Given the description of an element on the screen output the (x, y) to click on. 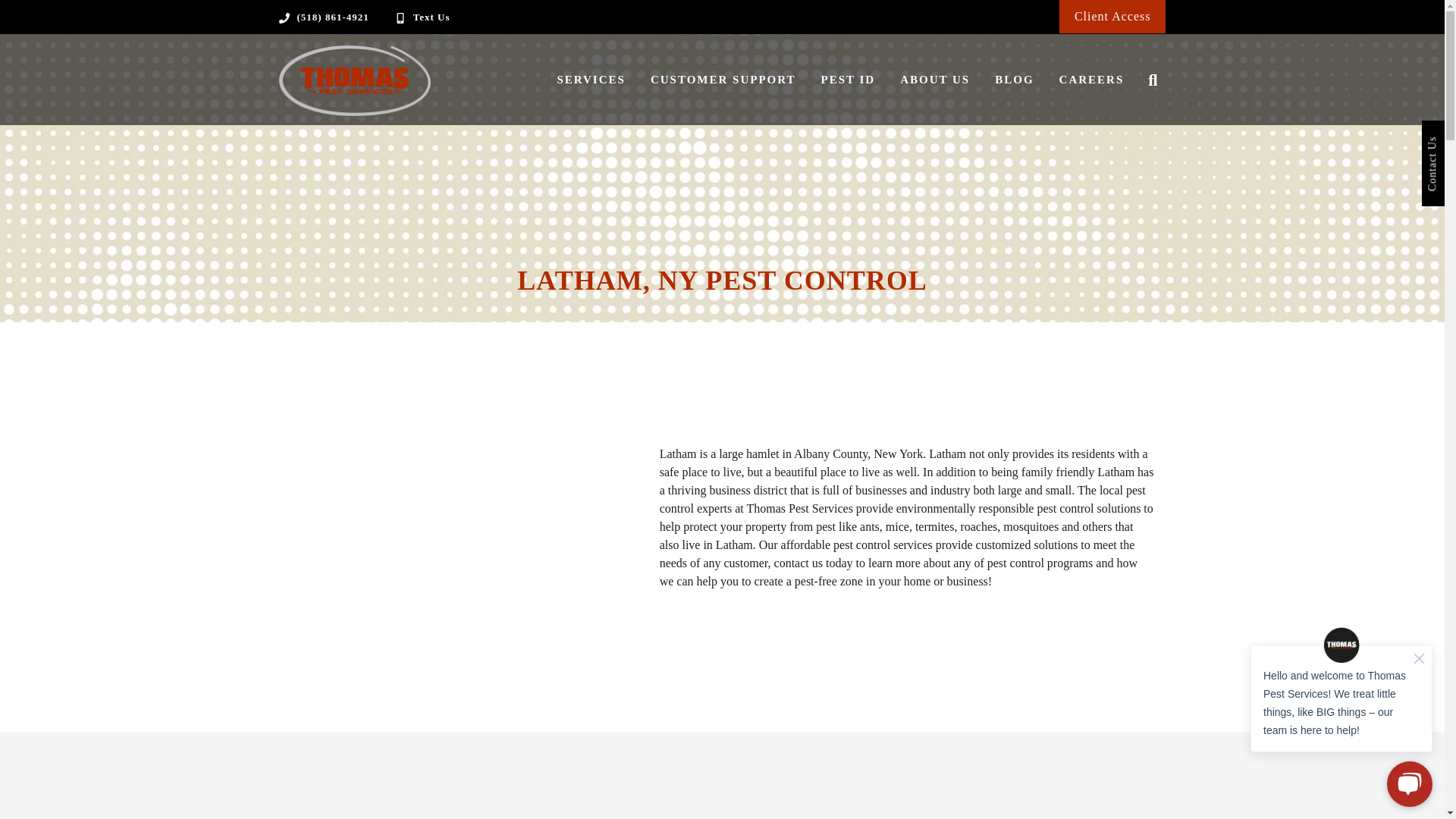
Client Access (1112, 15)
Text Us (431, 16)
Full-Circle-1---Duo-Color (354, 80)
